Given the description of an element on the screen output the (x, y) to click on. 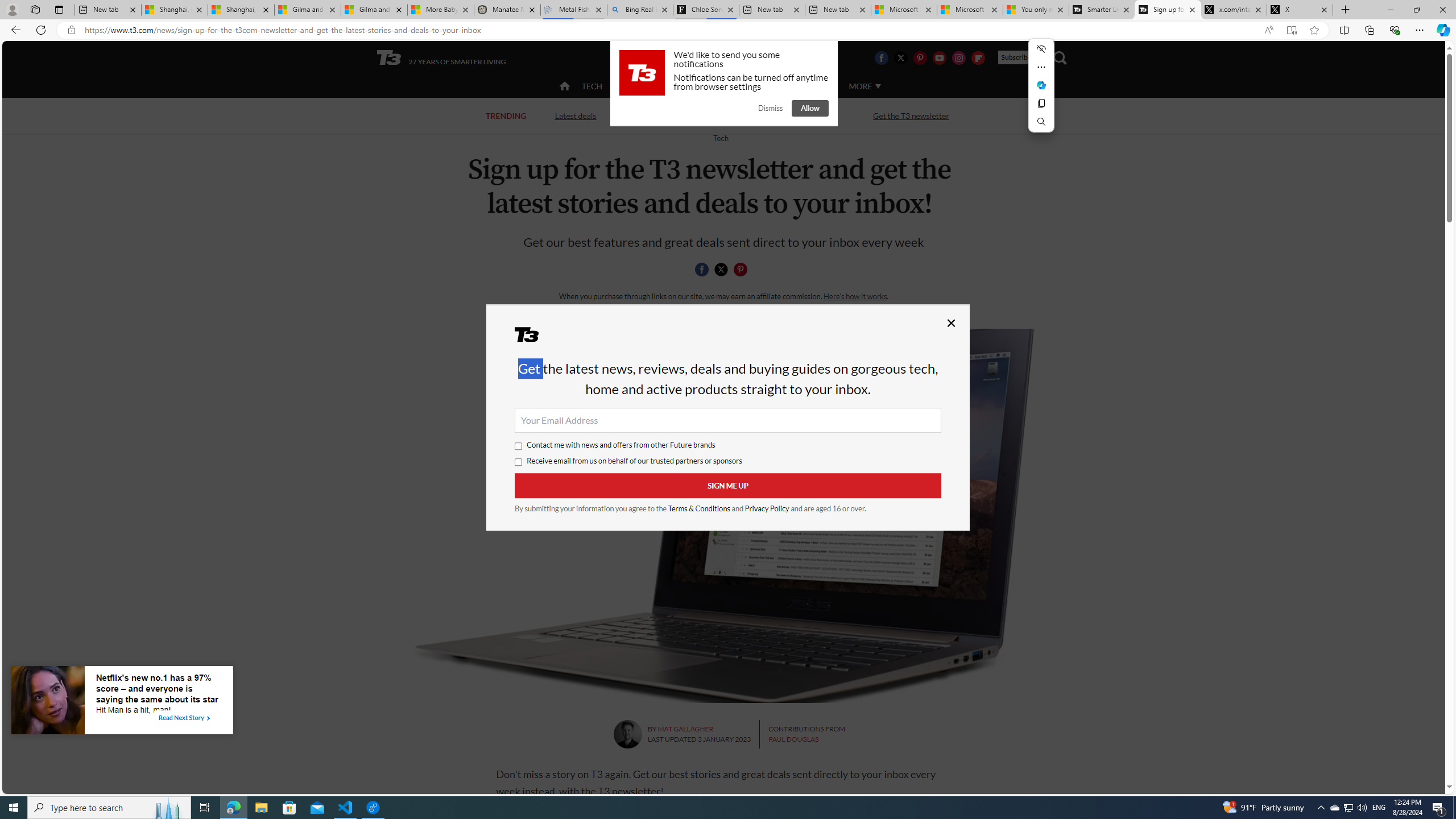
Privacy Policy (766, 508)
Sign me up (727, 485)
T3 27 YEARS OF SMARTER LIVING (441, 57)
Image for Taboola Advertising Unit (47, 702)
Smarter Living | T3 (1102, 9)
Latest deals (575, 115)
Hide menu (1041, 49)
Return to Tech (720, 137)
Visit us on Youtube (938, 57)
Bing Real Estate - Home sales and rental listings (640, 9)
T3 (534, 338)
Class: navigation__search (1059, 57)
